Given the description of an element on the screen output the (x, y) to click on. 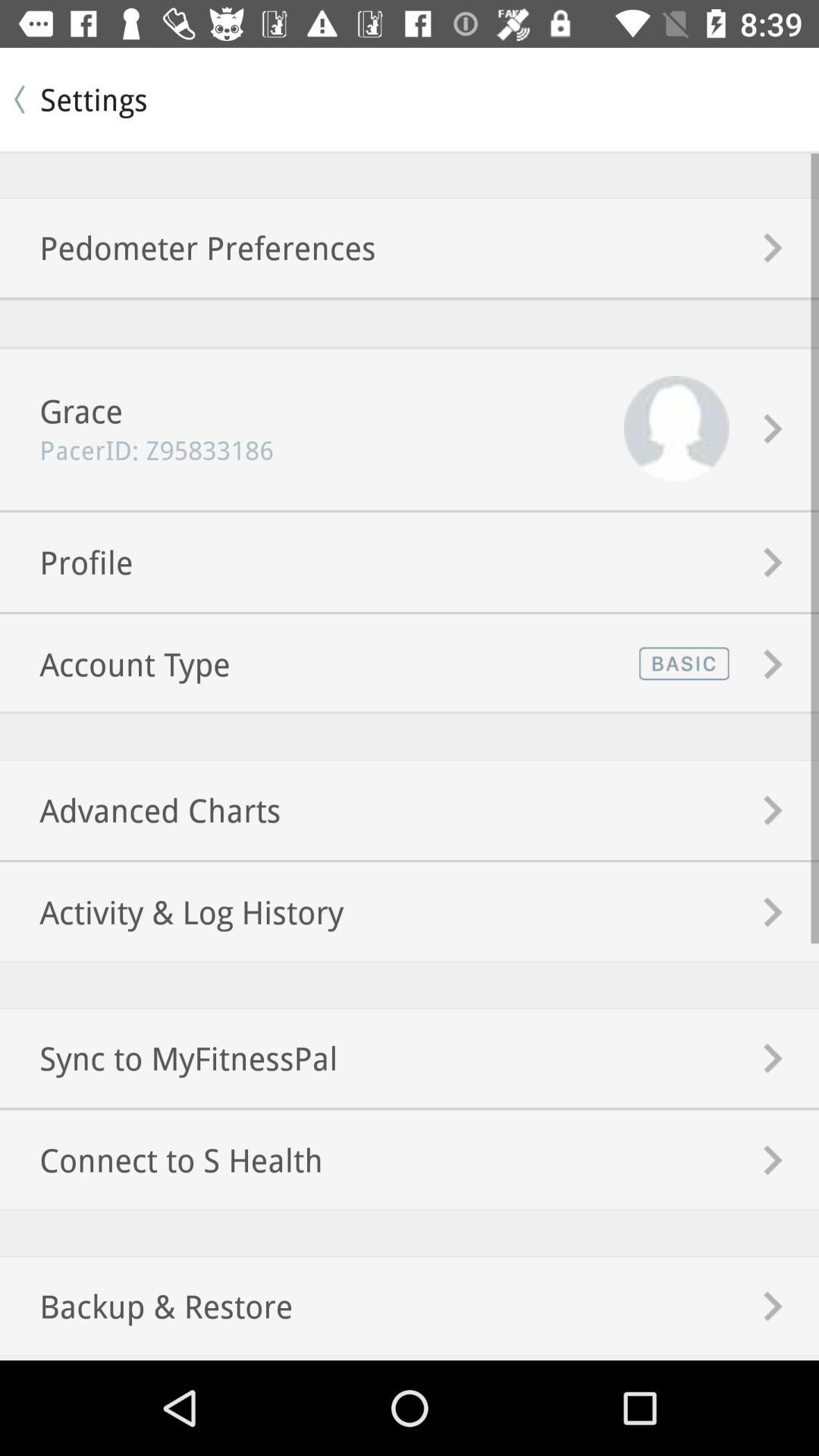
tap icon below the grace item (136, 449)
